Given the description of an element on the screen output the (x, y) to click on. 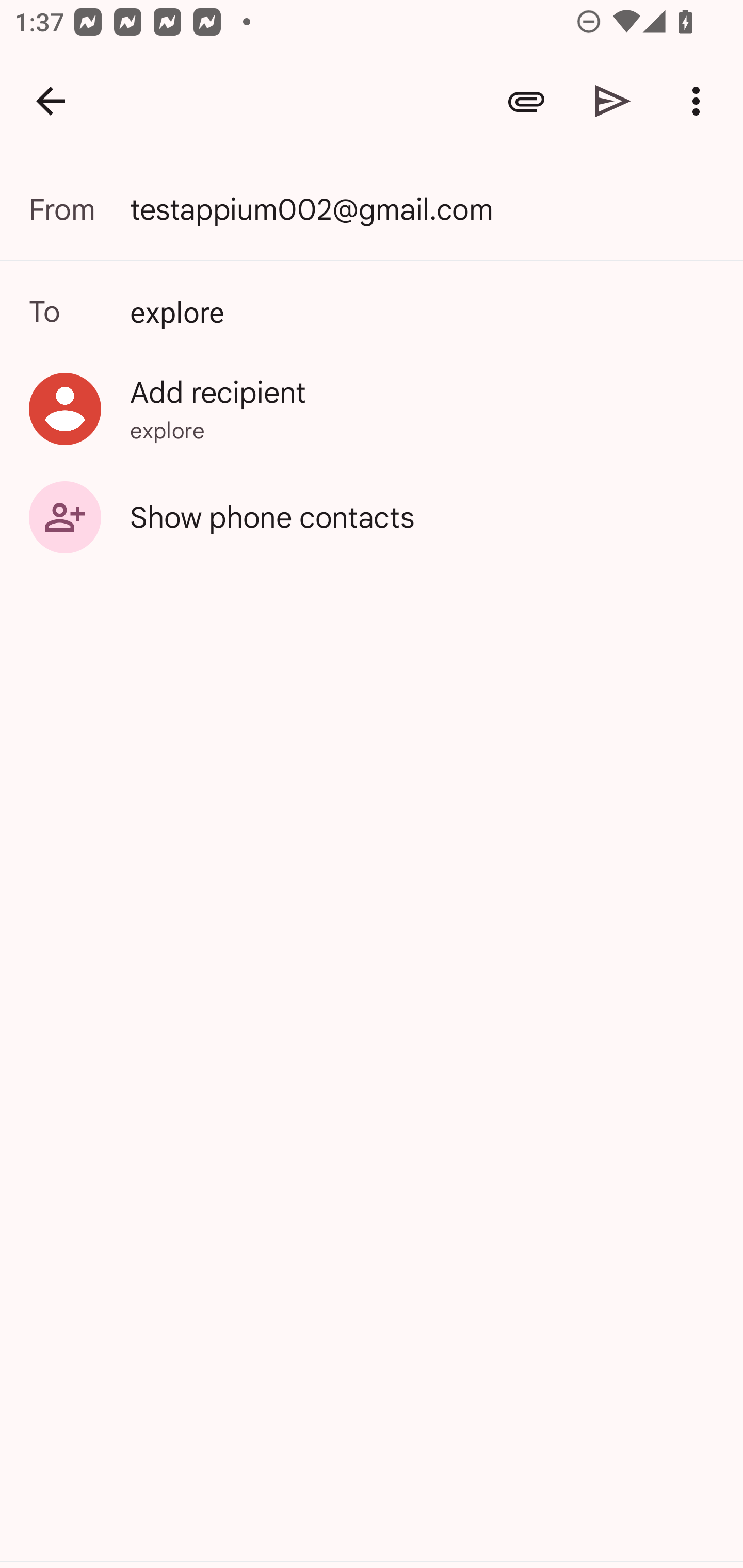
Navigate up (50, 101)
Attach file (525, 101)
Send (612, 101)
More options (699, 101)
From (79, 209)
explore (371, 311)
explore (425, 311)
Add recipient explore (371, 408)
Show phone contacts (371, 516)
